Given the description of an element on the screen output the (x, y) to click on. 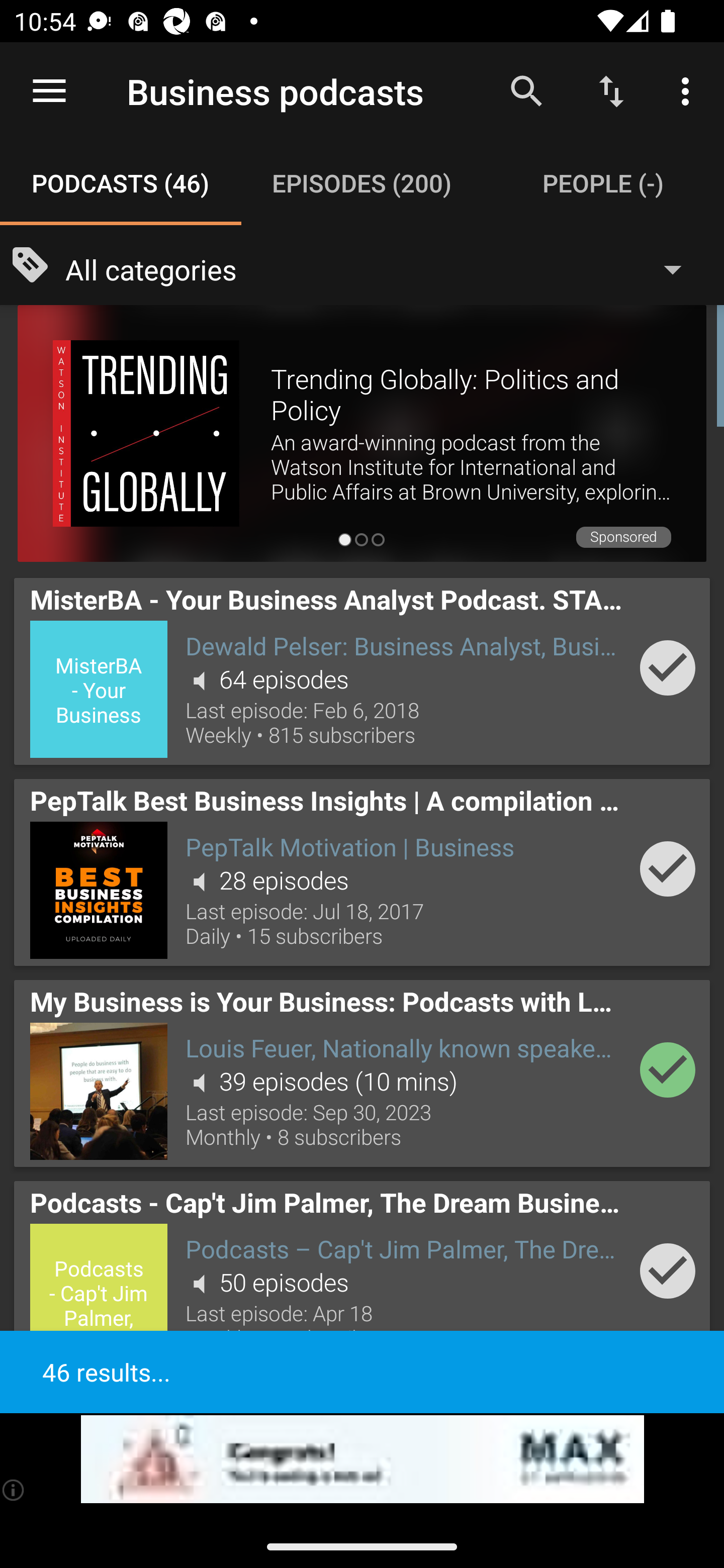
Open navigation sidebar (49, 91)
Search (526, 90)
Sort (611, 90)
More options (688, 90)
Episodes (200) EPISODES (200) (361, 183)
People (-) PEOPLE (-) (603, 183)
All categories (383, 268)
Add (667, 667)
Add (667, 868)
Add (667, 1069)
Add (667, 1271)
app-monetization (362, 1459)
(i) (14, 1489)
